Given the description of an element on the screen output the (x, y) to click on. 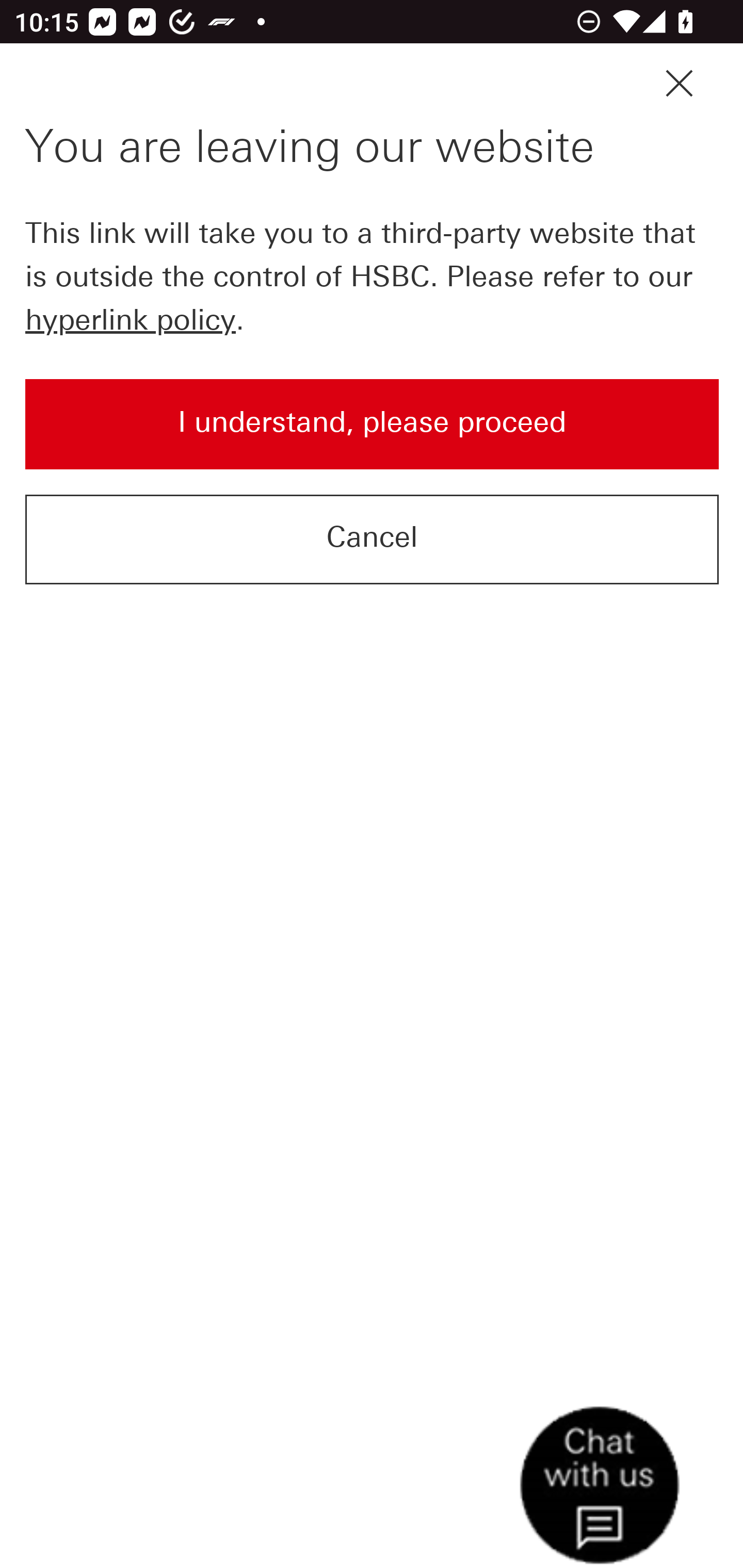
close modal (678, 83)
hyperlink policy (130, 319)
Cancel (372, 538)
Chat with us (687, 1513)
